Given the description of an element on the screen output the (x, y) to click on. 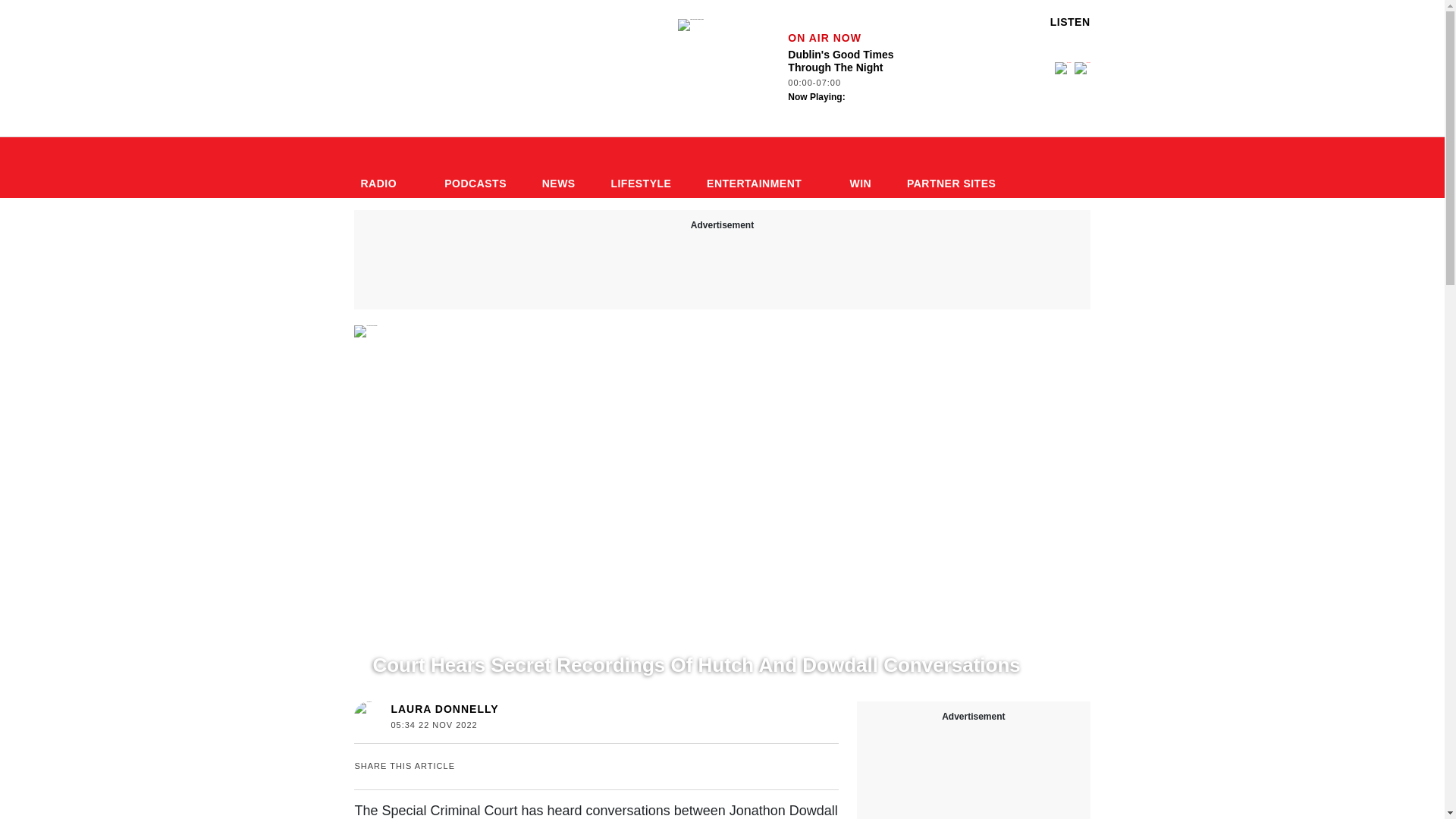
ENTERTAINMENT (760, 167)
PODCASTS (475, 167)
LIFESTYLE (640, 167)
Podcasts (475, 167)
Dublin's Good Times Through The Night (690, 24)
NEWS (429, 635)
RADIO (383, 167)
PARTNER SITES (957, 167)
Lifestyle (640, 167)
